Given the description of an element on the screen output the (x, y) to click on. 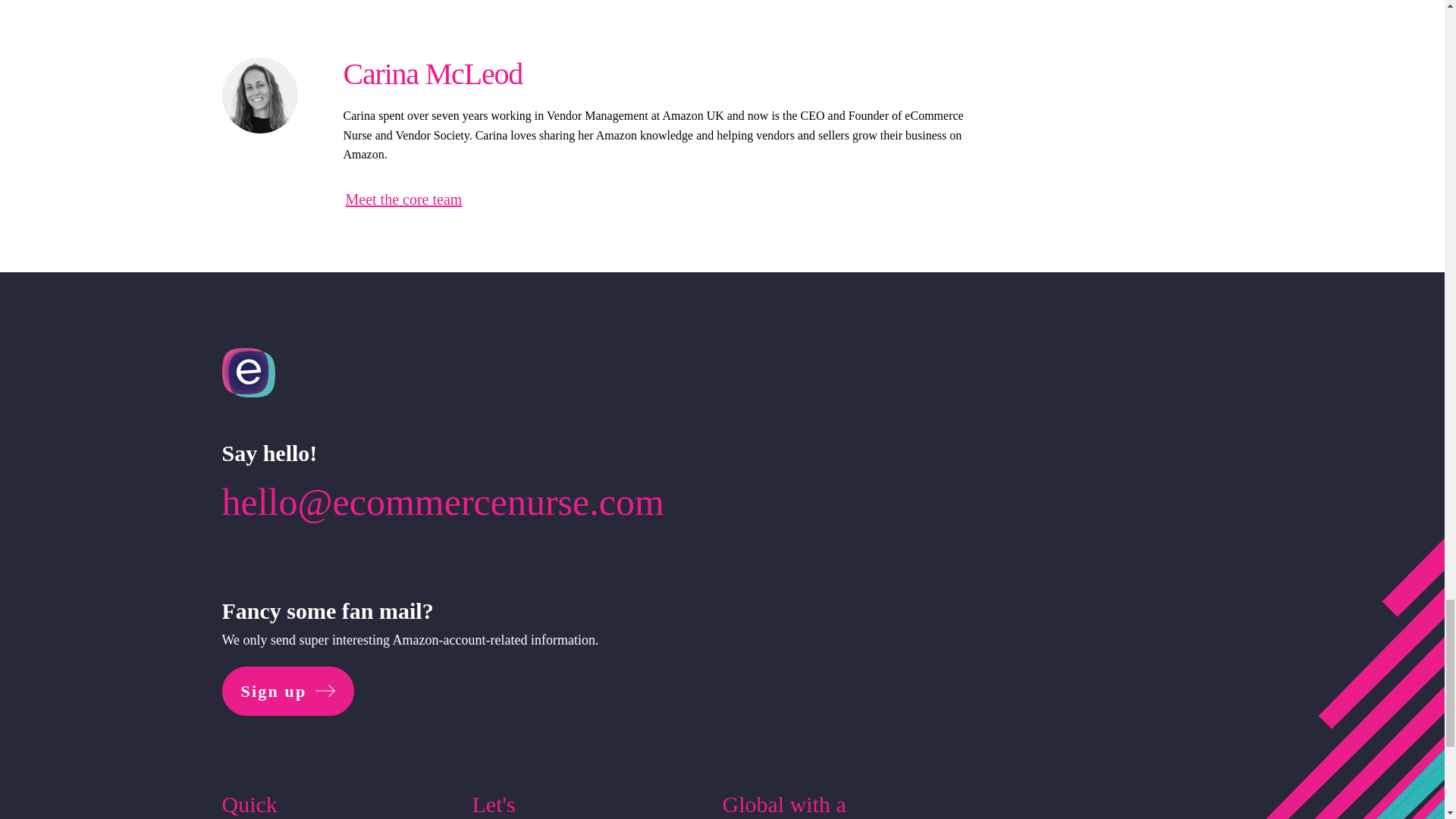
Meet the core team (404, 187)
